Given the description of an element on the screen output the (x, y) to click on. 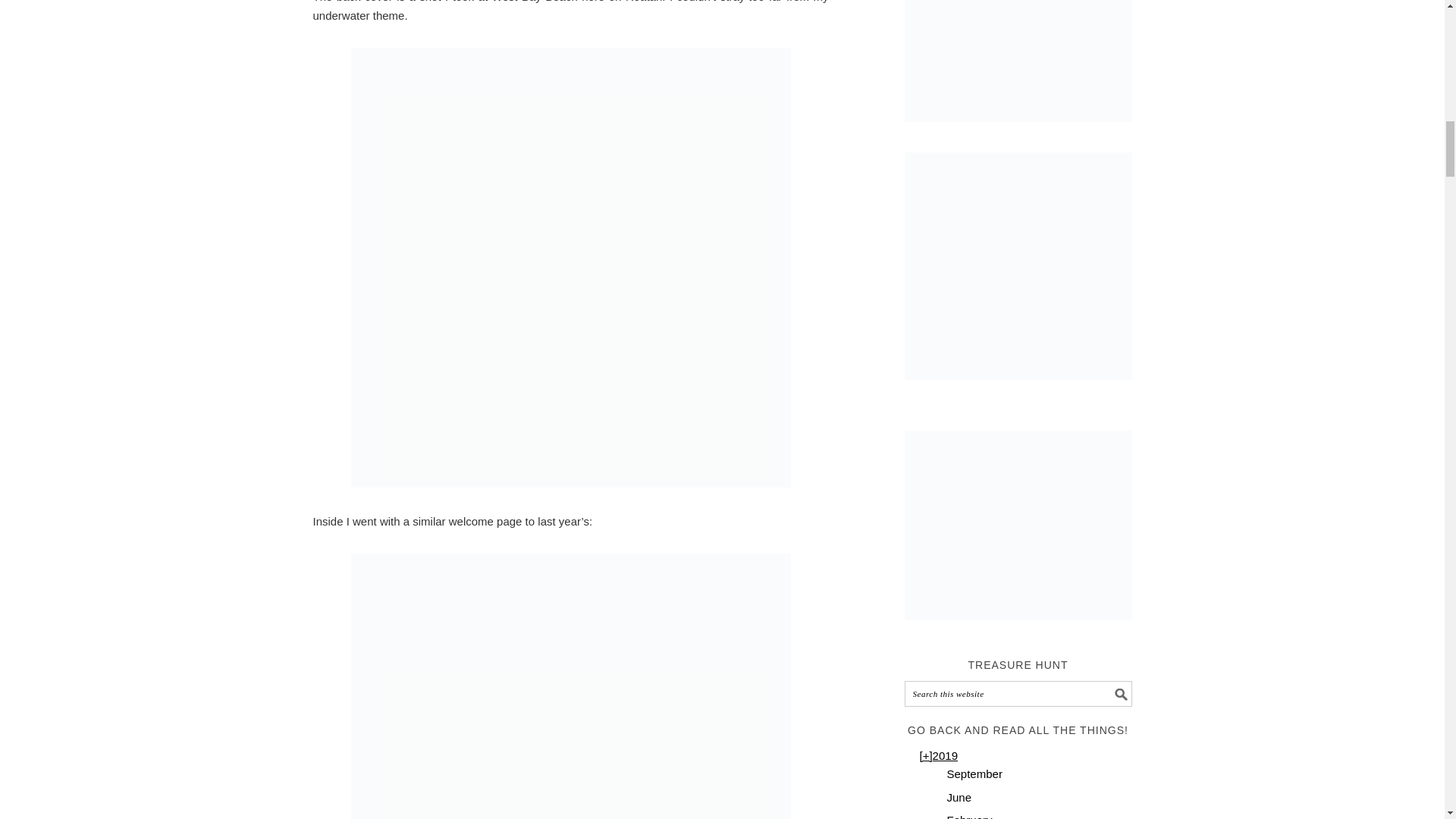
February (968, 816)
2019 (924, 755)
September (973, 773)
2019 (945, 755)
June (958, 797)
